Given the description of an element on the screen output the (x, y) to click on. 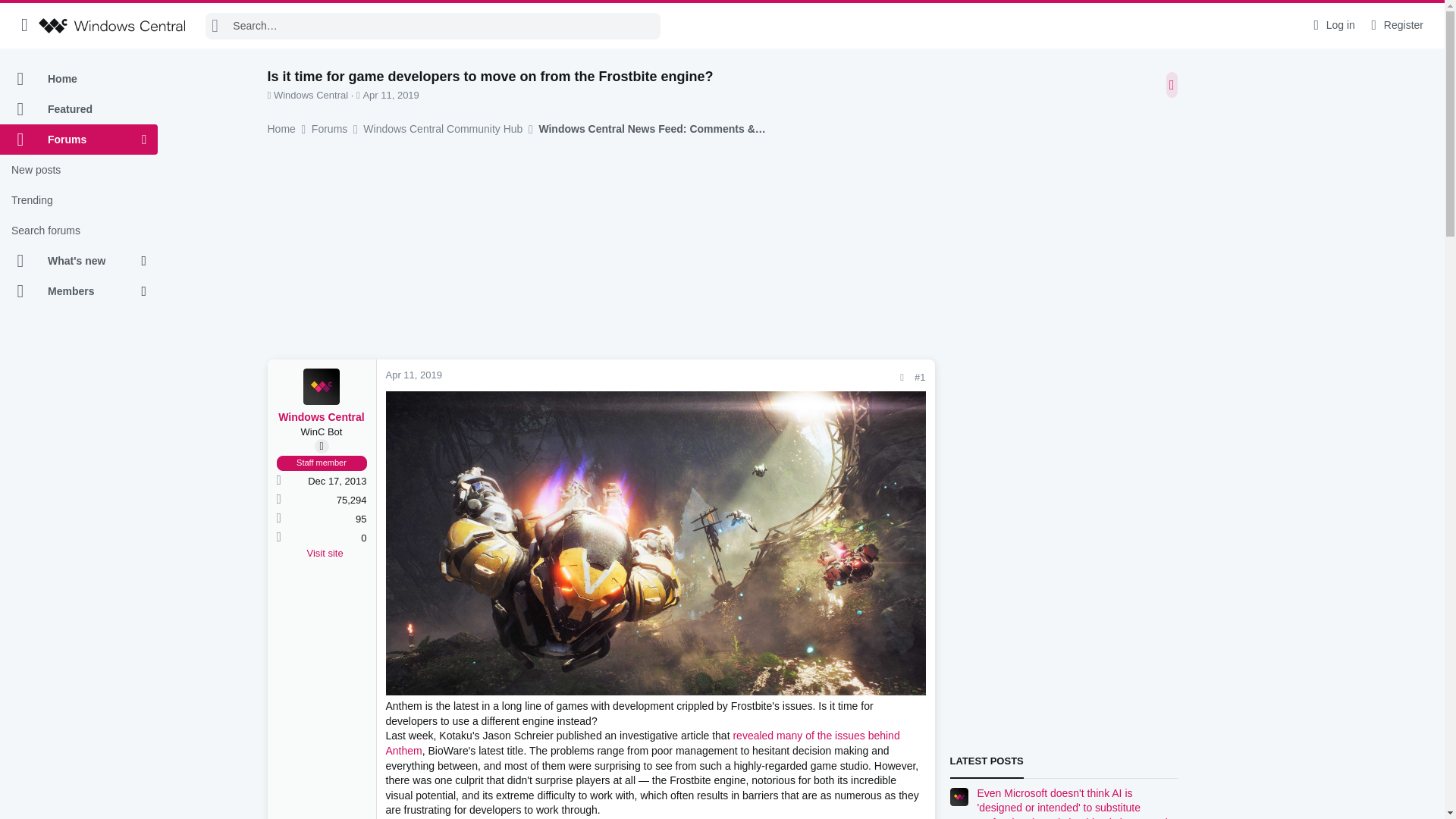
Log in (1332, 24)
New posts (78, 169)
Forums (70, 139)
Register (1395, 24)
Apr 11, 2019 at 5:11 PM (413, 374)
Search forums (78, 230)
Home (78, 78)
Featured (78, 109)
Trending (78, 200)
